Given the description of an element on the screen output the (x, y) to click on. 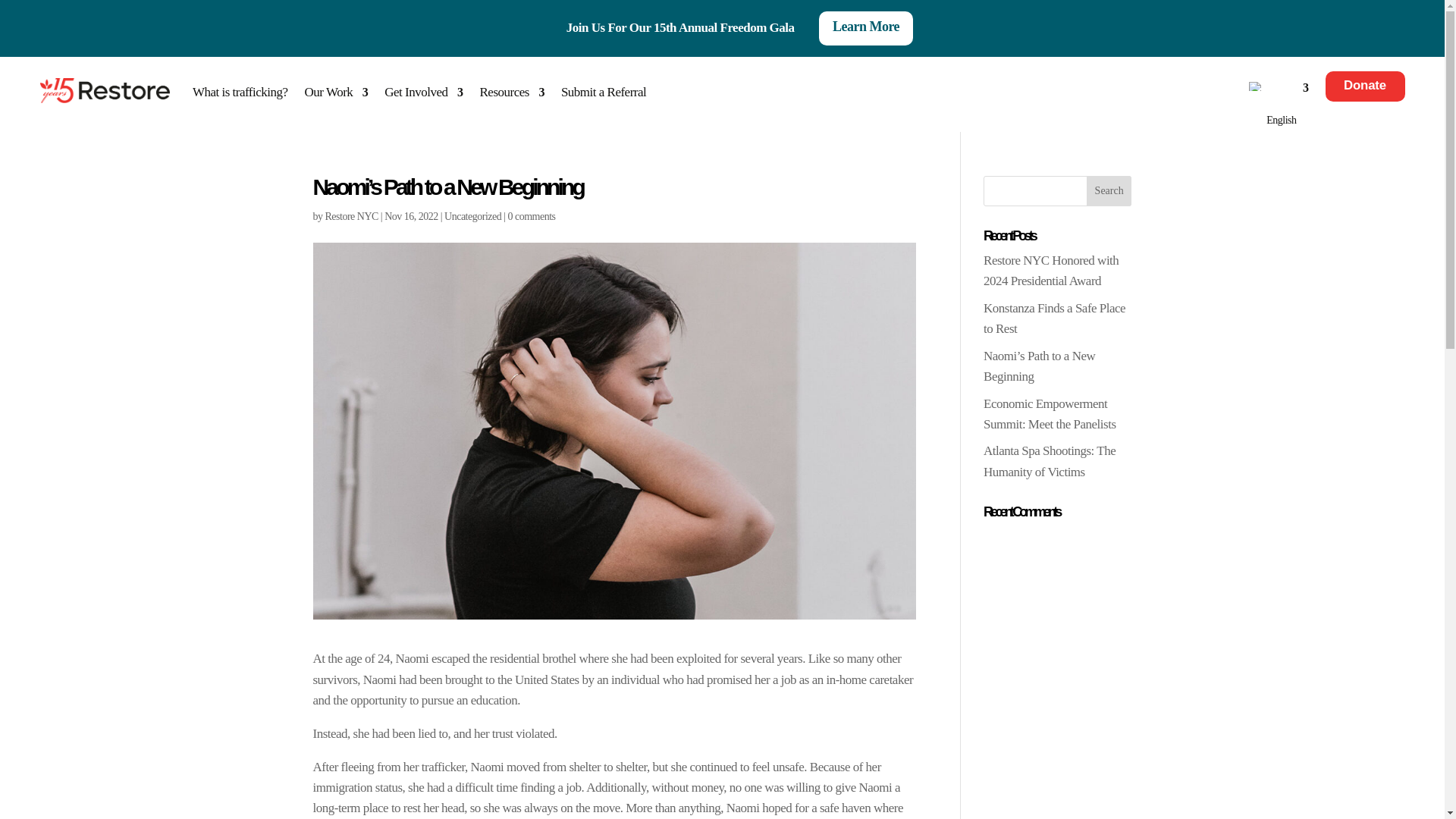
Our Work (336, 92)
What is trafficking? (240, 92)
Submit a Referral (603, 92)
Resources (512, 92)
Donate (1364, 101)
Learn More (865, 28)
Search (1109, 191)
English (1255, 85)
English (1275, 106)
Get Involved (423, 92)
